Given the description of an element on the screen output the (x, y) to click on. 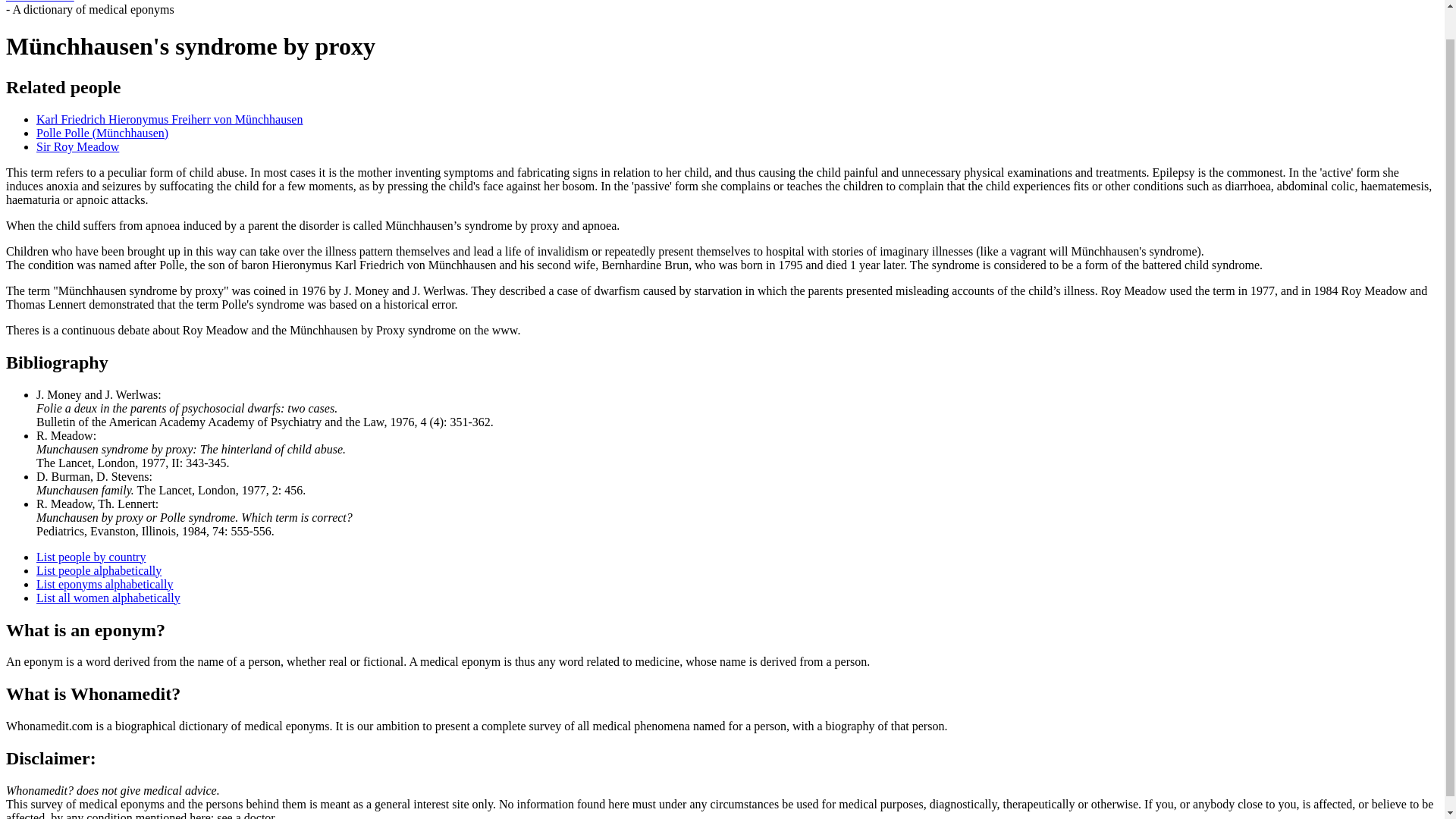
Sir Roy Meadow (77, 146)
List people by country (90, 556)
List eponyms alphabetically (104, 584)
List all women alphabetically (108, 597)
List people alphabetically (98, 570)
Whonamedit? (39, 1)
